Given the description of an element on the screen output the (x, y) to click on. 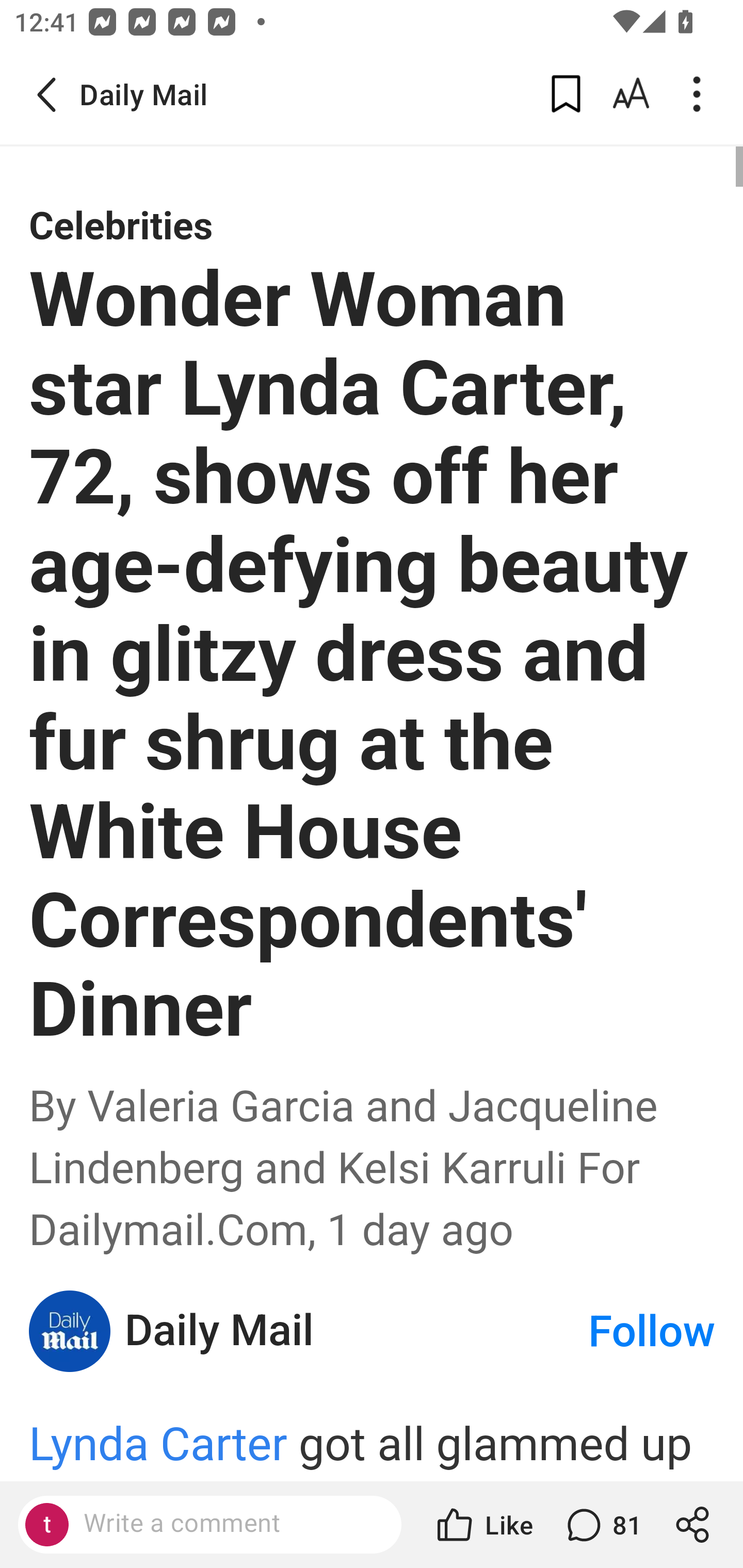
Like (483, 1524)
81 (601, 1524)
Write a comment (209, 1524)
Write a comment (226, 1523)
